Given the description of an element on the screen output the (x, y) to click on. 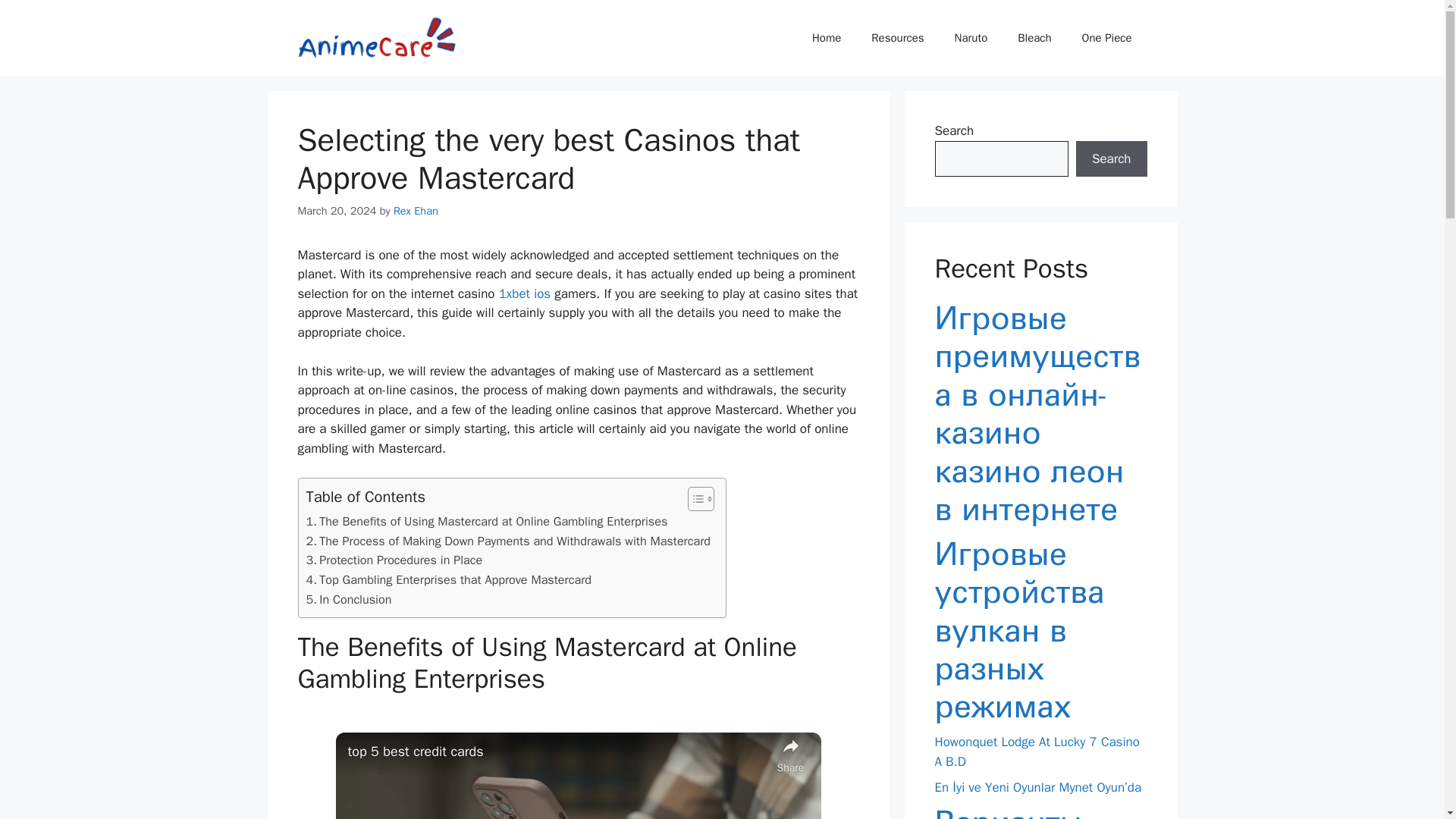
Howonquet Lodge At Lucky 7 Casino A B.D (1036, 751)
Top Gambling Enterprises that Approve Mastercard (448, 579)
Bleach (1034, 37)
One Piece (1107, 37)
Top Gambling Enterprises that Approve Mastercard (448, 579)
1xbet ios (525, 293)
Protection Procedures in Place (394, 560)
In Conclusion (348, 599)
Resources (897, 37)
Protection Procedures in Place (394, 560)
Search (1111, 158)
top 5 best credit cards (557, 752)
Home (826, 37)
